Given the description of an element on the screen output the (x, y) to click on. 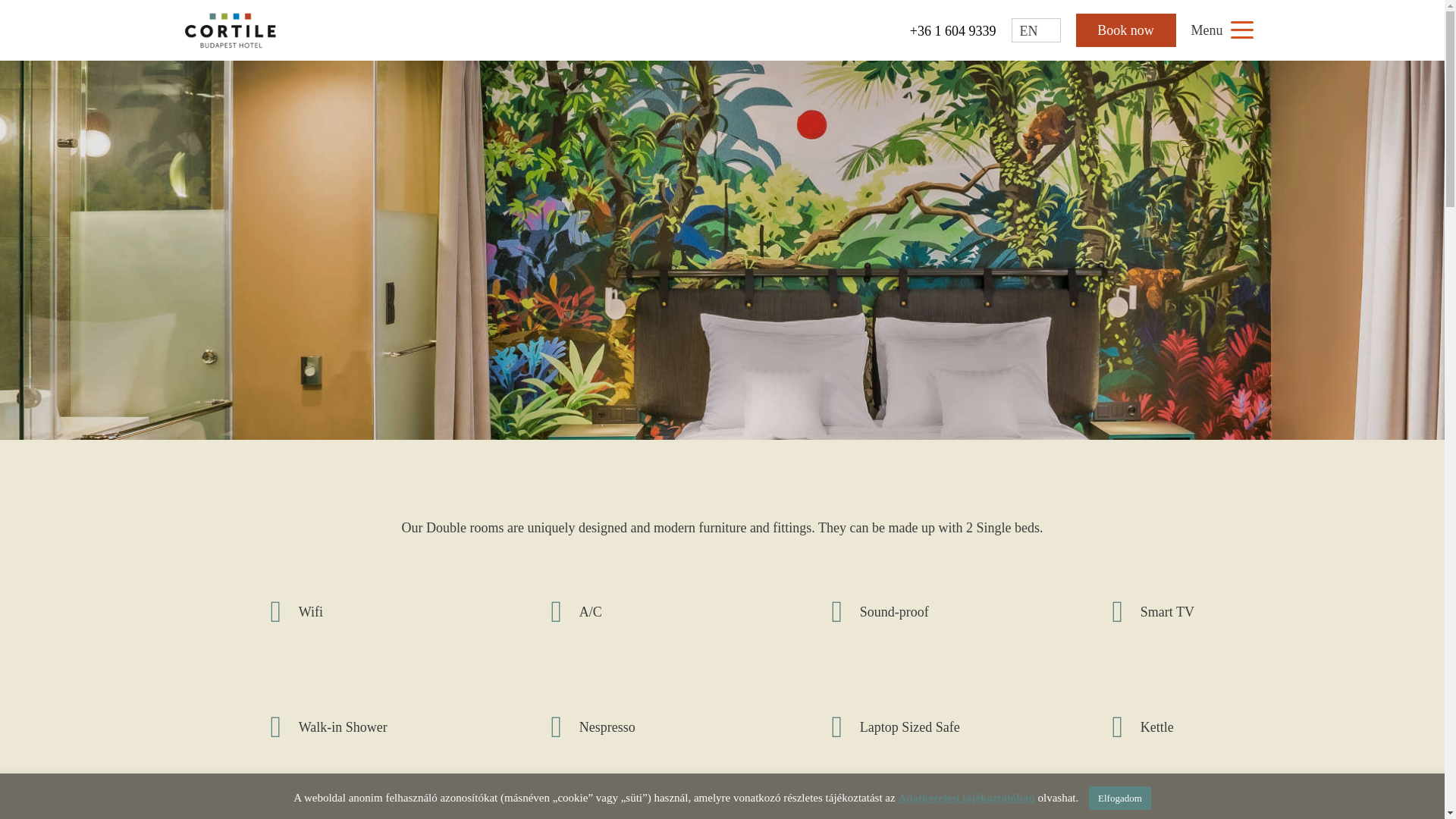
Book now (1124, 29)
EN (1036, 30)
